Given the description of an element on the screen output the (x, y) to click on. 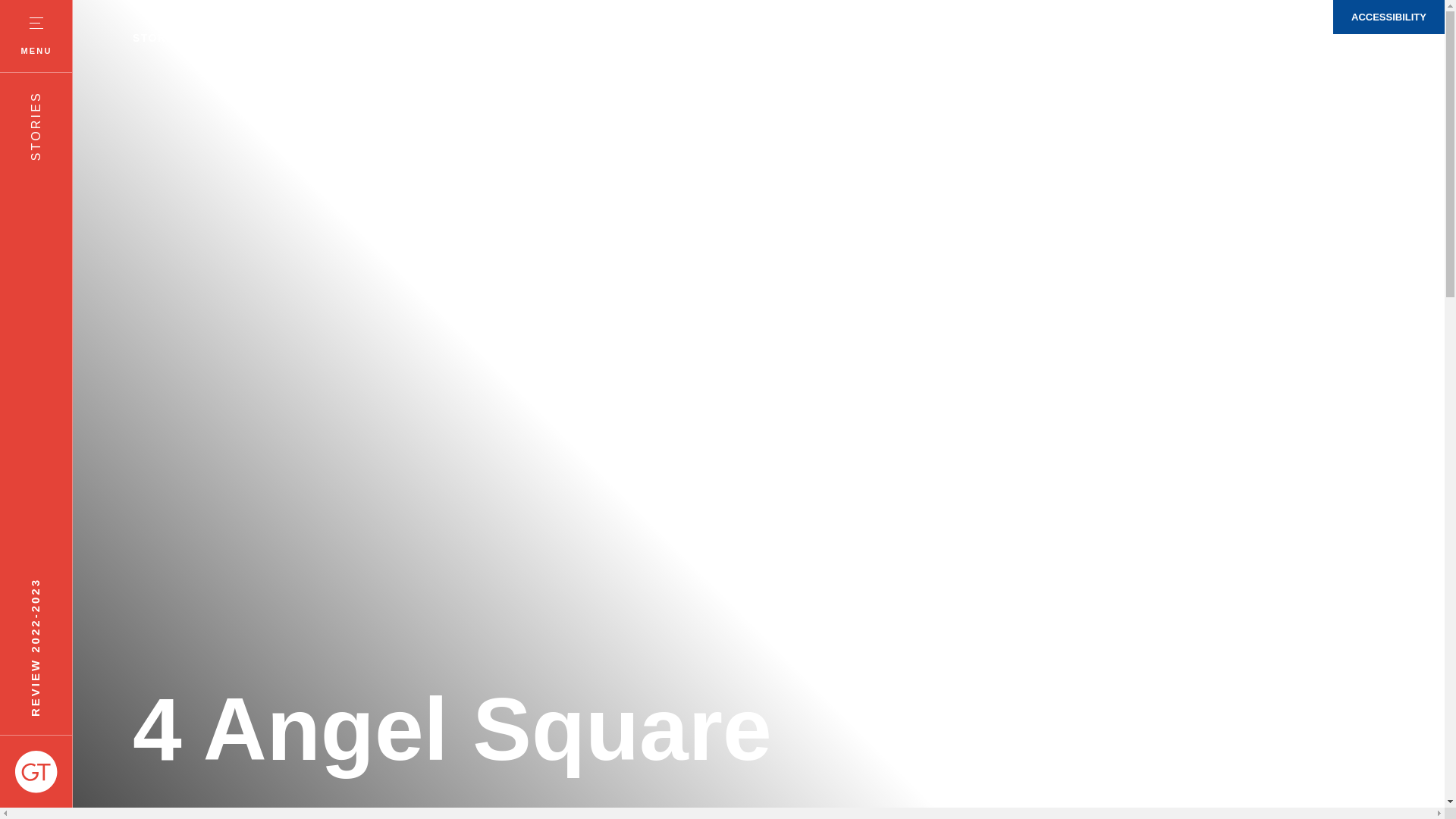
Environment (243, 37)
ENVIRONMENT (243, 37)
STORIES (159, 37)
4 Angel Square (556, 726)
MENU (36, 36)
Stories (159, 37)
